Given the description of an element on the screen output the (x, y) to click on. 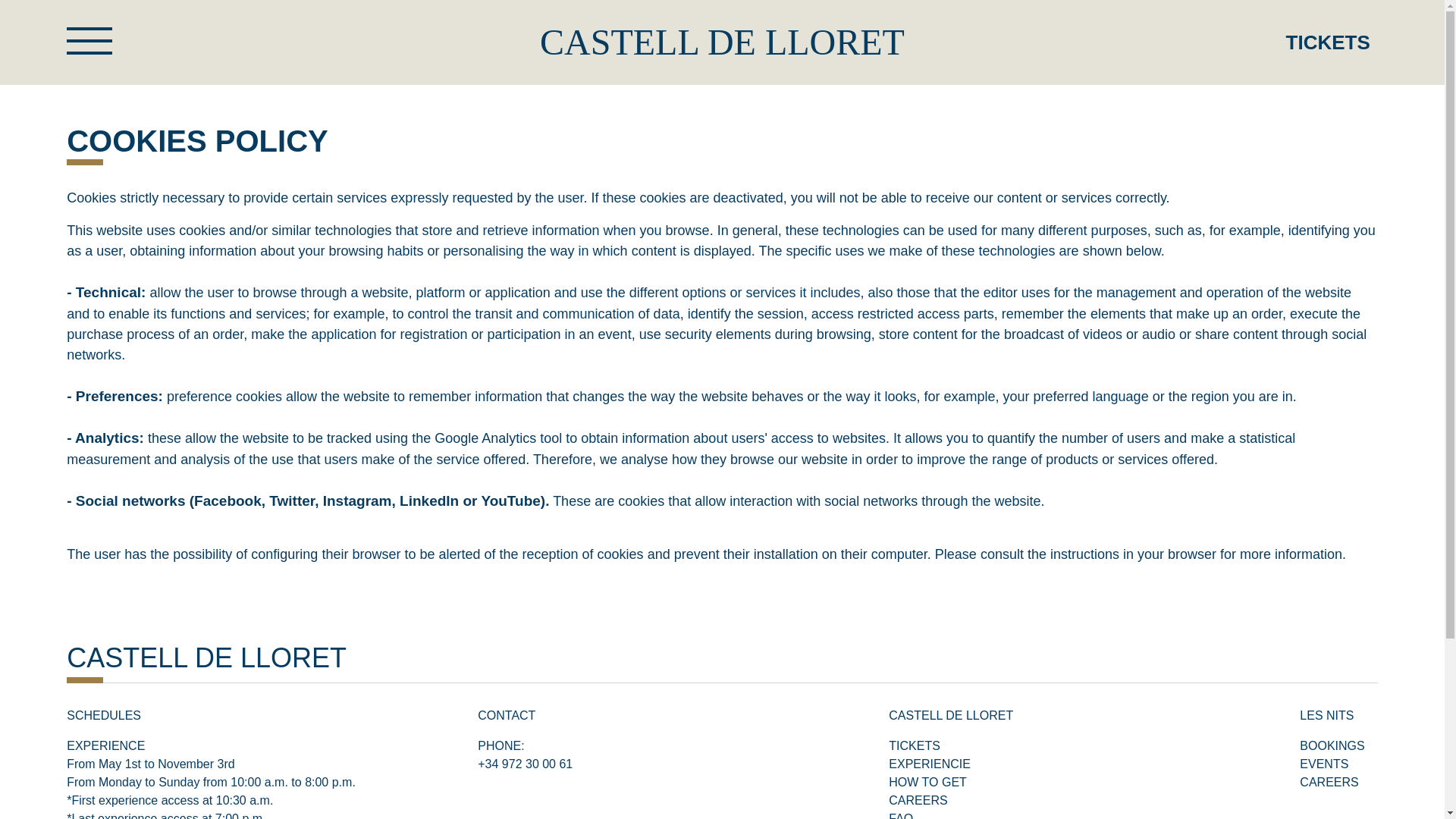
HOW TO GET (927, 781)
FAQ (900, 815)
BOOKINGS (1332, 745)
CASTELL DE LLORET (950, 715)
CASTELL DE LLORET (206, 657)
CASTELL DE LLORET (722, 42)
CAREERS (917, 799)
CAREERS (1329, 781)
TICKETS (914, 745)
LES NITS (1327, 715)
